Given the description of an element on the screen output the (x, y) to click on. 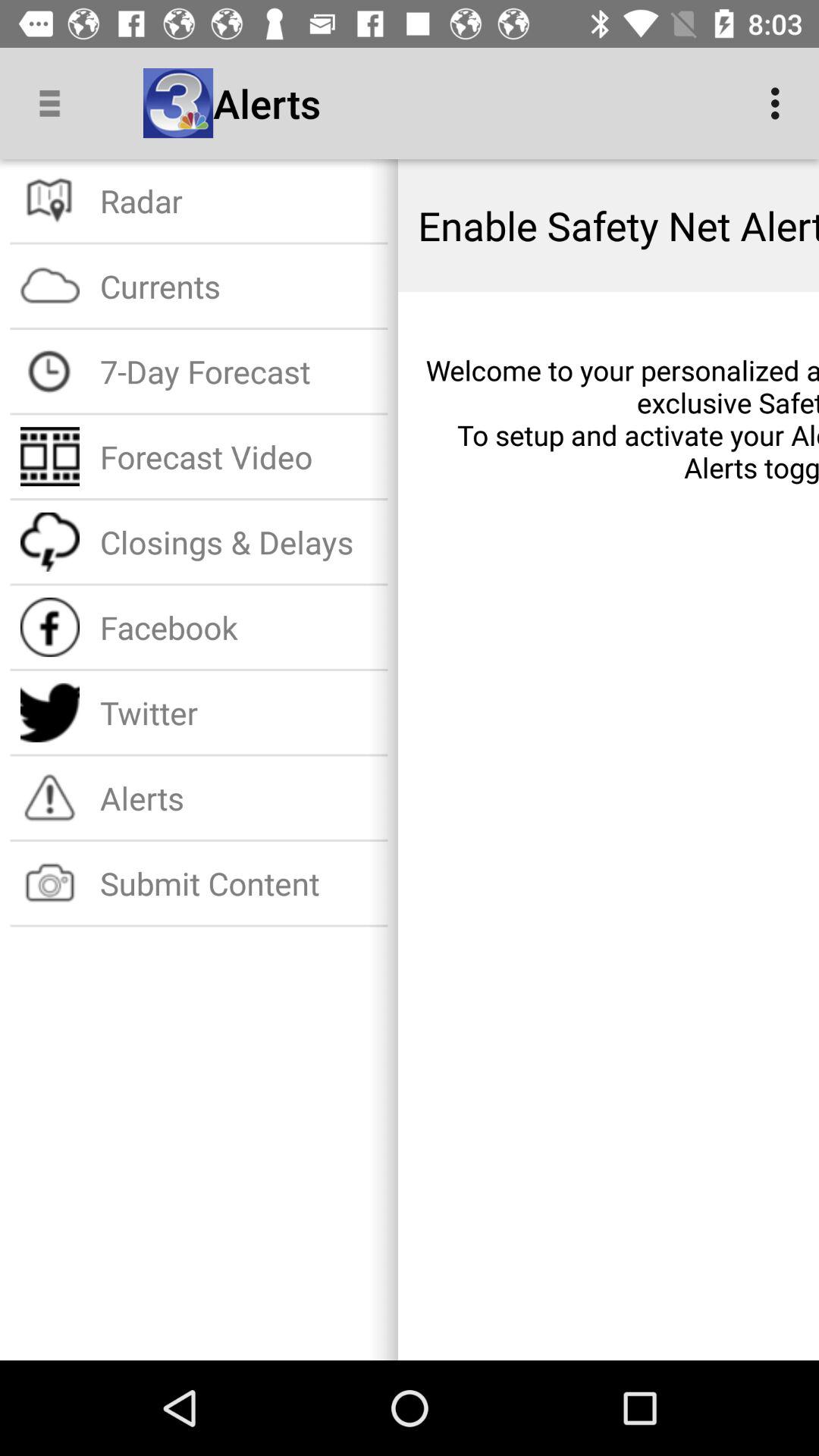
tap icon below the facebook item (238, 712)
